Given the description of an element on the screen output the (x, y) to click on. 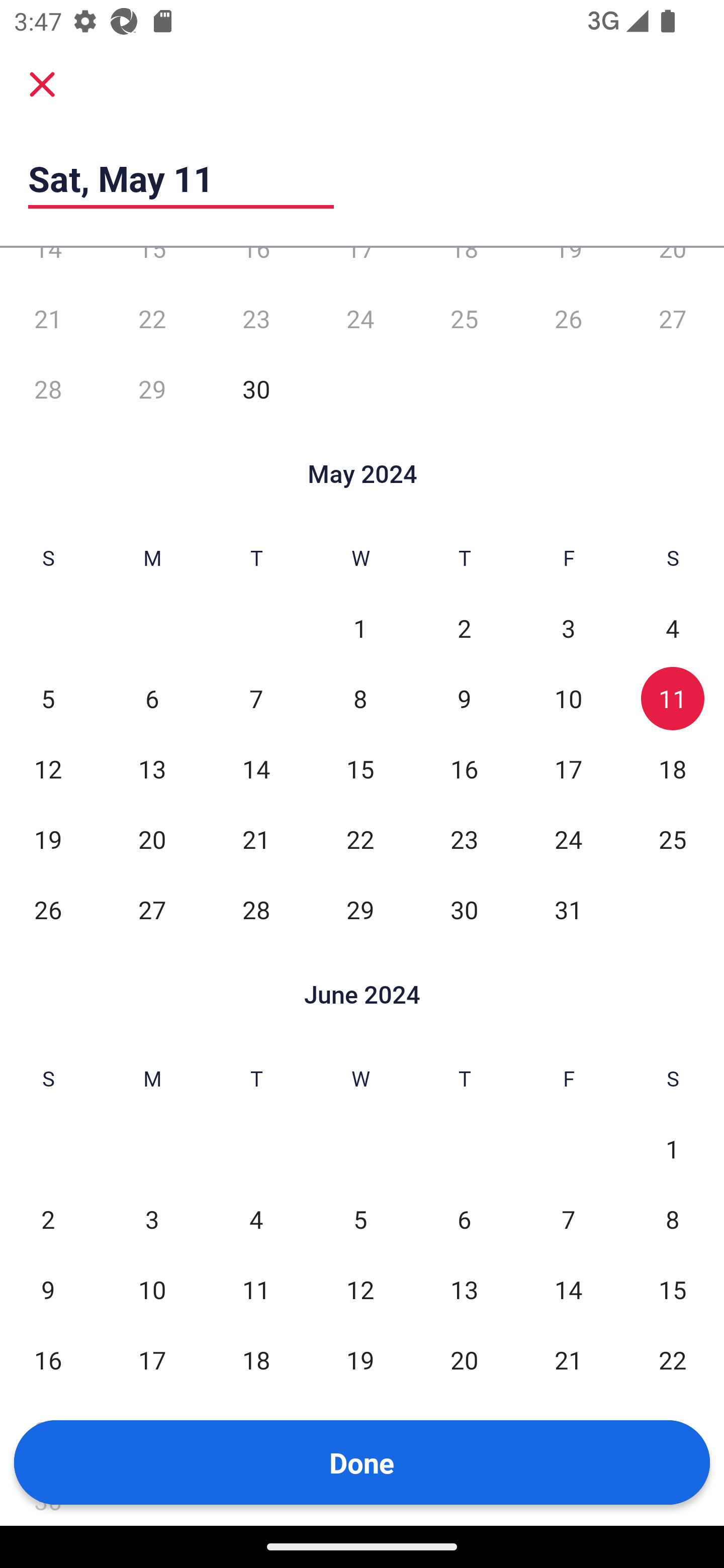
Cancel (41, 83)
Sat, May 11 (180, 178)
21 Sun, Apr 21, Not Selected (48, 318)
22 Mon, Apr 22, Not Selected (152, 318)
23 Tue, Apr 23, Not Selected (256, 318)
24 Wed, Apr 24, Not Selected (360, 318)
25 Thu, Apr 25, Not Selected (464, 318)
26 Fri, Apr 26, Not Selected (568, 318)
27 Sat, Apr 27, Not Selected (672, 318)
28 Sun, Apr 28, Not Selected (48, 389)
29 Mon, Apr 29, Not Selected (152, 389)
30 Tue, Apr 30, Not Selected (256, 389)
1 Wed, May 1, Not Selected (360, 627)
2 Thu, May 2, Not Selected (464, 627)
3 Fri, May 3, Not Selected (568, 627)
4 Sat, May 4, Not Selected (672, 627)
5 Sun, May 5, Not Selected (48, 698)
6 Mon, May 6, Not Selected (152, 698)
7 Tue, May 7, Not Selected (256, 698)
8 Wed, May 8, Not Selected (360, 698)
9 Thu, May 9, Not Selected (464, 698)
10 Fri, May 10, Not Selected (568, 698)
11 Sat, May 11, Selected (672, 698)
12 Sun, May 12, Not Selected (48, 768)
13 Mon, May 13, Not Selected (152, 768)
14 Tue, May 14, Not Selected (256, 768)
15 Wed, May 15, Not Selected (360, 768)
16 Thu, May 16, Not Selected (464, 768)
17 Fri, May 17, Not Selected (568, 768)
18 Sat, May 18, Not Selected (672, 768)
19 Sun, May 19, Not Selected (48, 839)
20 Mon, May 20, Not Selected (152, 839)
21 Tue, May 21, Not Selected (256, 839)
22 Wed, May 22, Not Selected (360, 839)
23 Thu, May 23, Not Selected (464, 839)
24 Fri, May 24, Not Selected (568, 839)
25 Sat, May 25, Not Selected (672, 839)
26 Sun, May 26, Not Selected (48, 909)
27 Mon, May 27, Not Selected (152, 909)
28 Tue, May 28, Not Selected (256, 909)
29 Wed, May 29, Not Selected (360, 909)
30 Thu, May 30, Not Selected (464, 909)
31 Fri, May 31, Not Selected (568, 909)
1 Sat, Jun 1, Not Selected (672, 1148)
2 Sun, Jun 2, Not Selected (48, 1218)
3 Mon, Jun 3, Not Selected (152, 1218)
4 Tue, Jun 4, Not Selected (256, 1218)
5 Wed, Jun 5, Not Selected (360, 1218)
6 Thu, Jun 6, Not Selected (464, 1218)
7 Fri, Jun 7, Not Selected (568, 1218)
8 Sat, Jun 8, Not Selected (672, 1218)
9 Sun, Jun 9, Not Selected (48, 1289)
10 Mon, Jun 10, Not Selected (152, 1289)
11 Tue, Jun 11, Not Selected (256, 1289)
12 Wed, Jun 12, Not Selected (360, 1289)
13 Thu, Jun 13, Not Selected (464, 1289)
14 Fri, Jun 14, Not Selected (568, 1289)
15 Sat, Jun 15, Not Selected (672, 1289)
16 Sun, Jun 16, Not Selected (48, 1359)
17 Mon, Jun 17, Not Selected (152, 1359)
18 Tue, Jun 18, Not Selected (256, 1359)
19 Wed, Jun 19, Not Selected (360, 1359)
20 Thu, Jun 20, Not Selected (464, 1359)
21 Fri, Jun 21, Not Selected (568, 1359)
22 Sat, Jun 22, Not Selected (672, 1359)
Done Button Done (361, 1462)
